Given the description of an element on the screen output the (x, y) to click on. 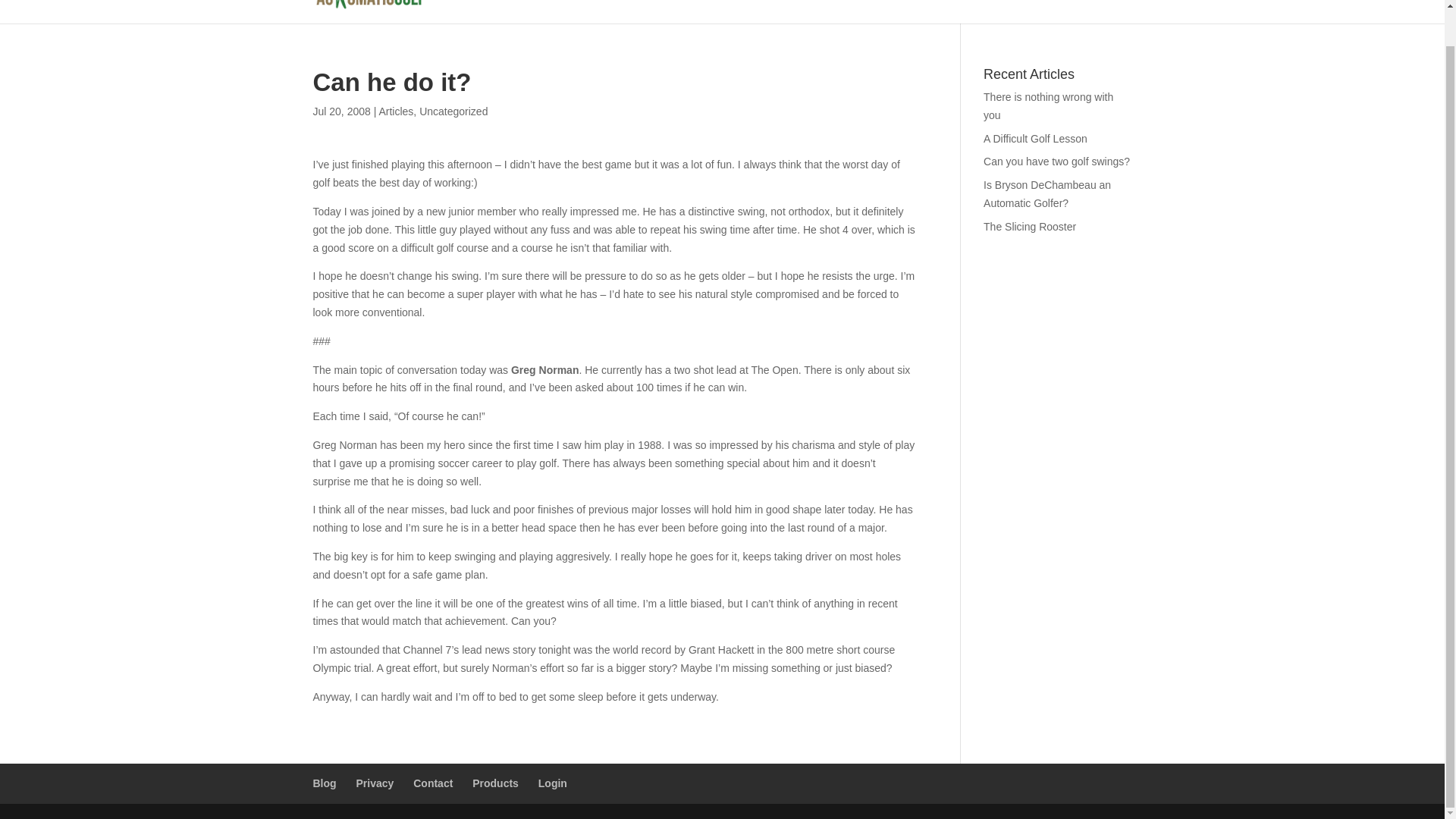
Privacy (375, 783)
Can you have two golf swings? (1056, 161)
Blog (1118, 11)
Login (552, 783)
Blog (324, 783)
Products (494, 783)
The Slicing Rooster (1029, 226)
Uncategorized (453, 111)
Is Bryson DeChambeau an Automatic Golfer? (1047, 194)
Sign in (1064, 11)
